Given the description of an element on the screen output the (x, y) to click on. 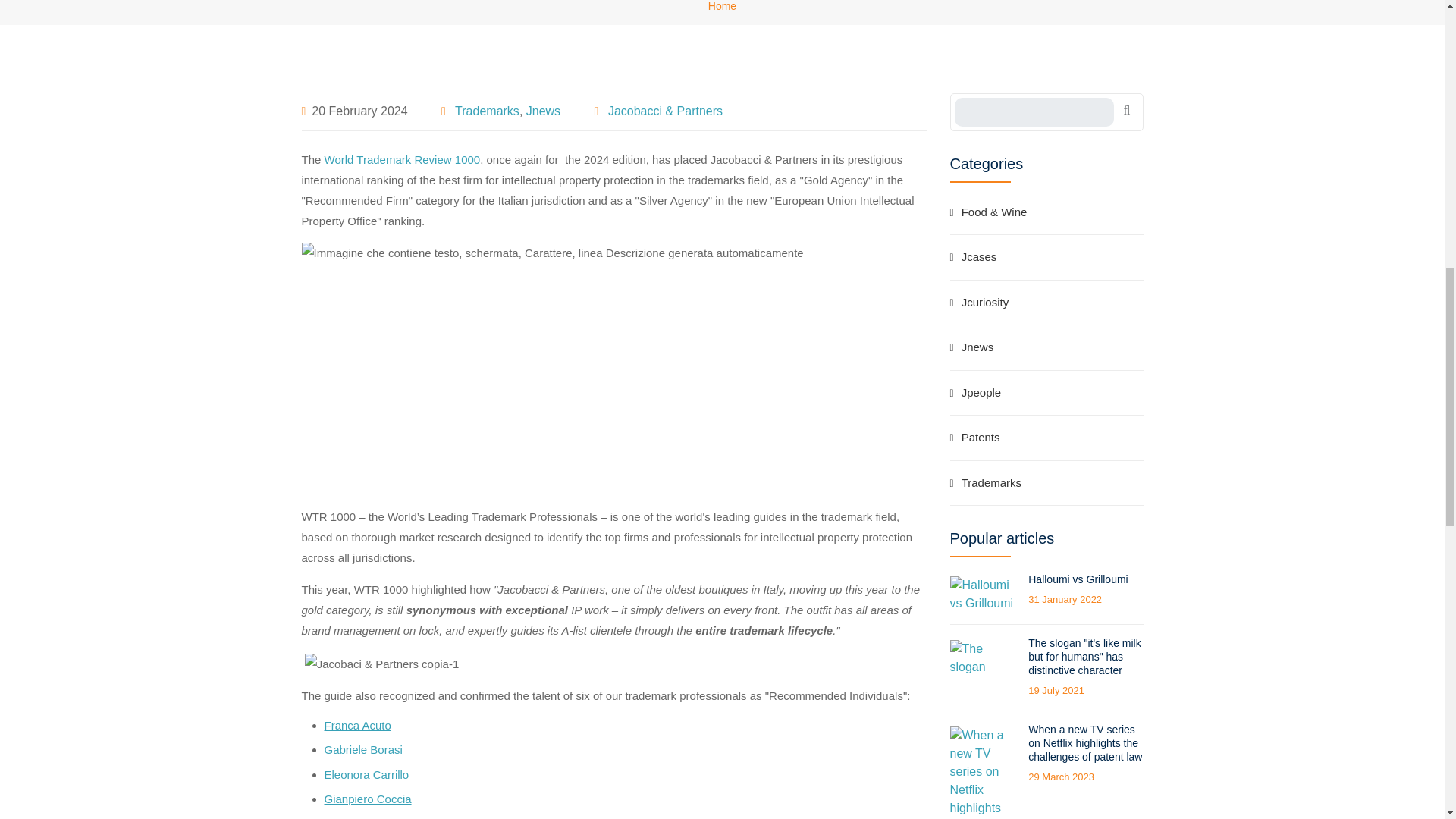
Home (721, 6)
Jnews (542, 110)
Trademarks (486, 110)
